Given the description of an element on the screen output the (x, y) to click on. 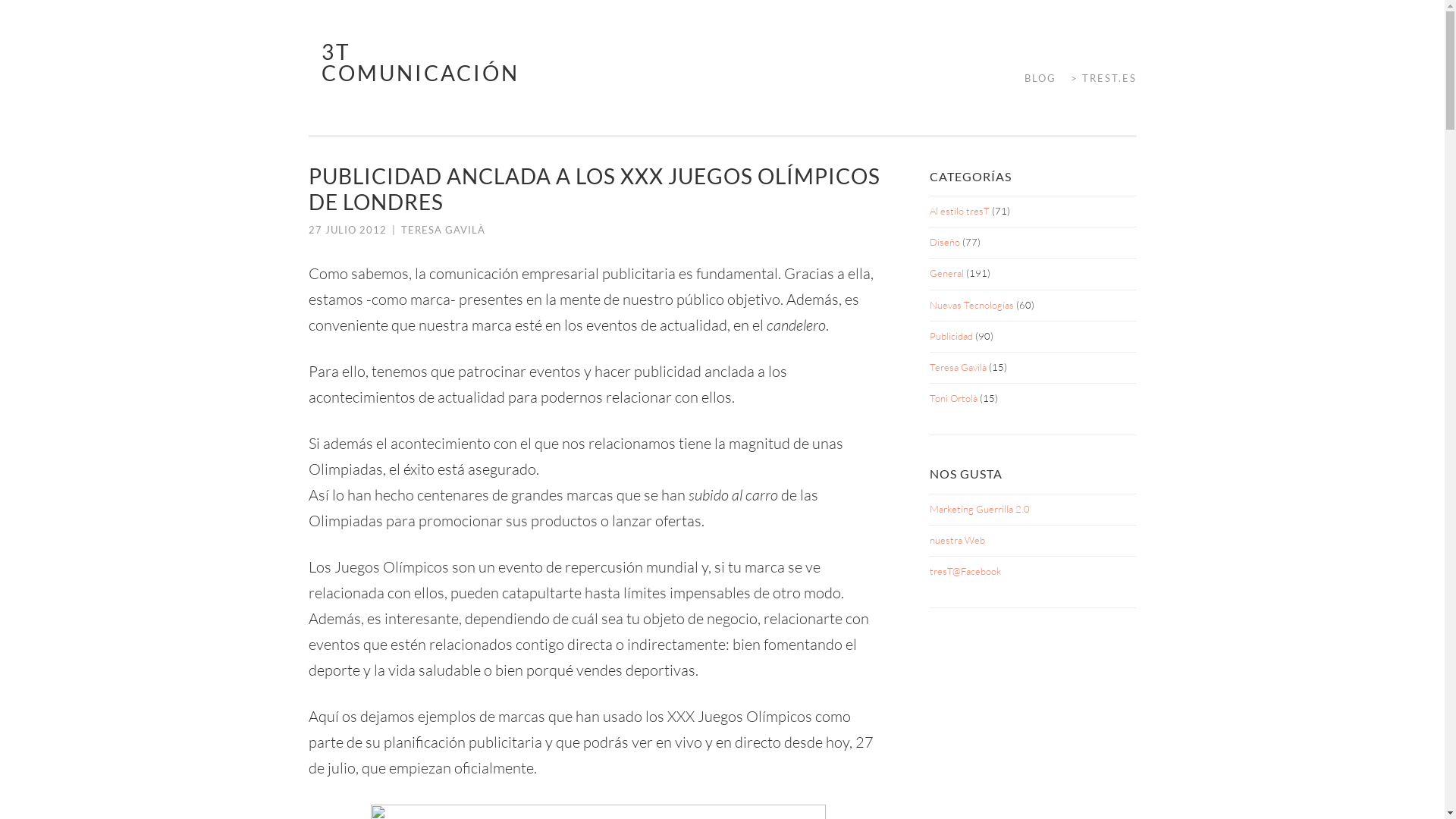
nuestra Web Element type: text (957, 539)
> TREST.ES Element type: text (1098, 78)
Publicidad Element type: text (950, 335)
Marketing Guerrilla 2.0 Element type: text (979, 508)
Al estilo tresT Element type: text (959, 210)
BLOG Element type: text (1034, 78)
27 JULIO 2012 Element type: text (346, 229)
tresT@Facebook Element type: text (965, 570)
General Element type: text (946, 272)
Saltar al contenido Element type: text (307, 40)
